Given the description of an element on the screen output the (x, y) to click on. 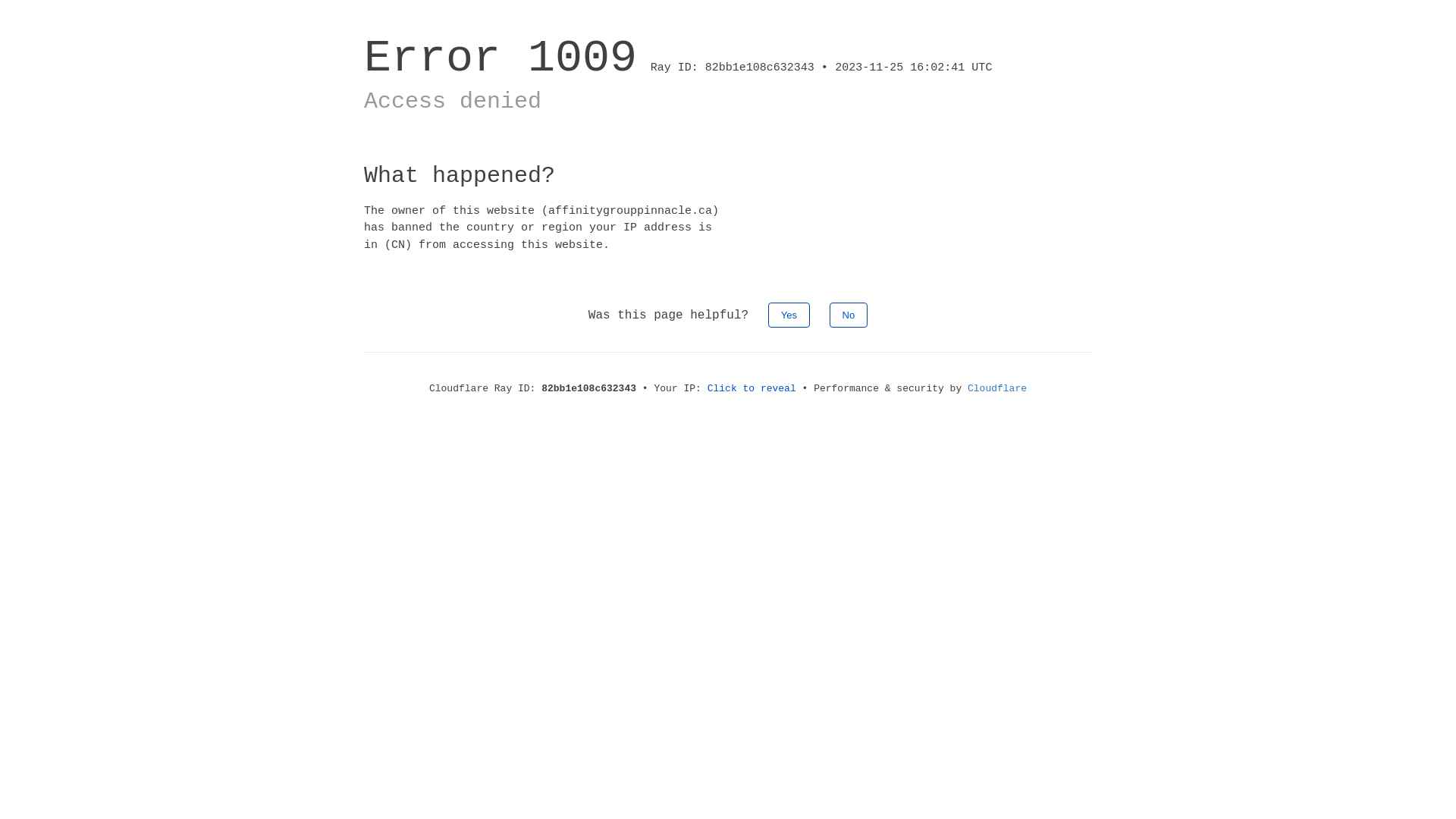
Yes Element type: text (788, 314)
Cloudflare Element type: text (996, 388)
No Element type: text (848, 314)
Click to reveal Element type: text (751, 388)
